Given the description of an element on the screen output the (x, y) to click on. 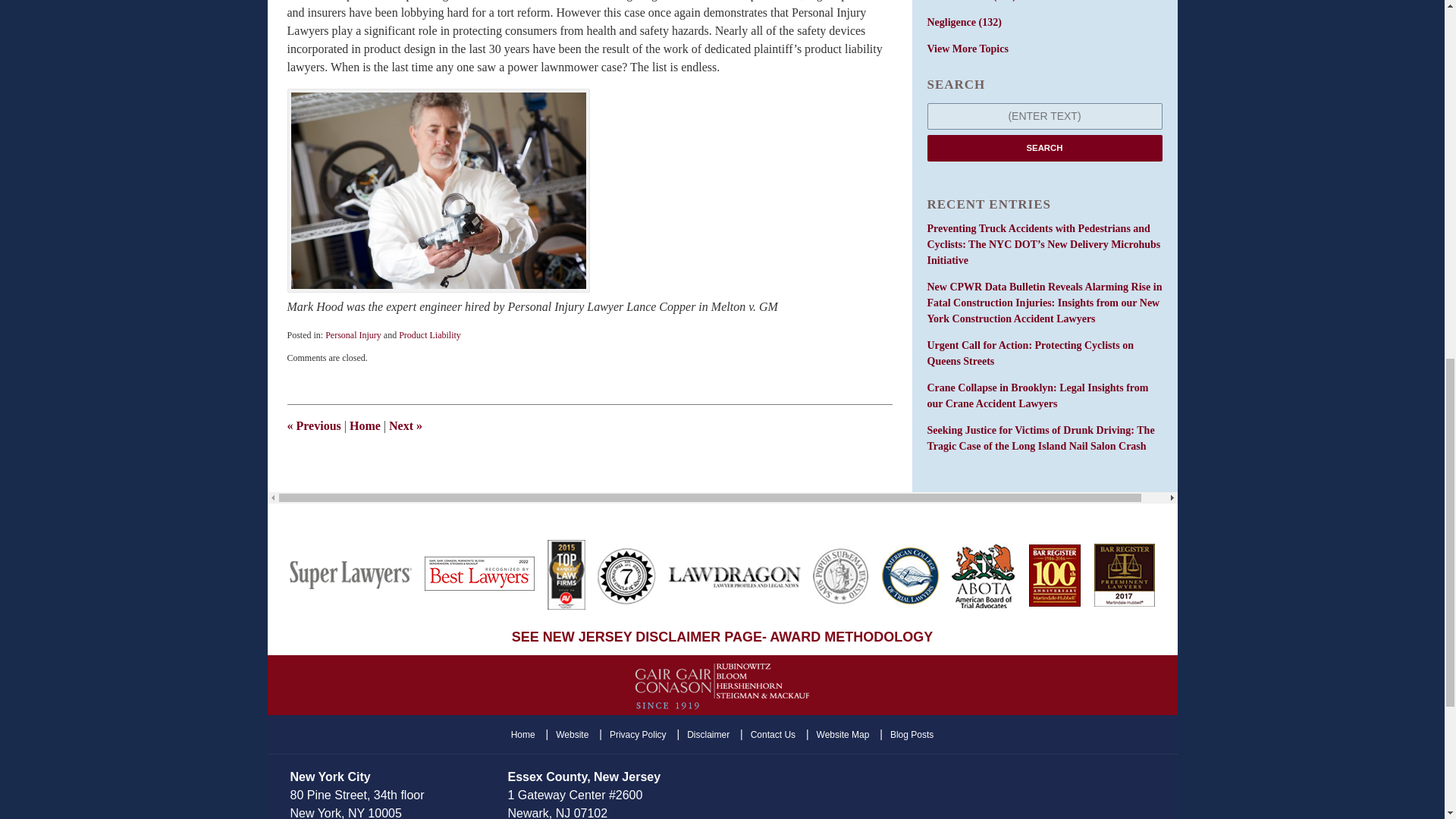
View all posts in Personal Injury (352, 335)
Personal Injury (352, 335)
Home (364, 425)
Product Liability (429, 335)
View all posts in Product Liability (429, 335)
